Given the description of an element on the screen output the (x, y) to click on. 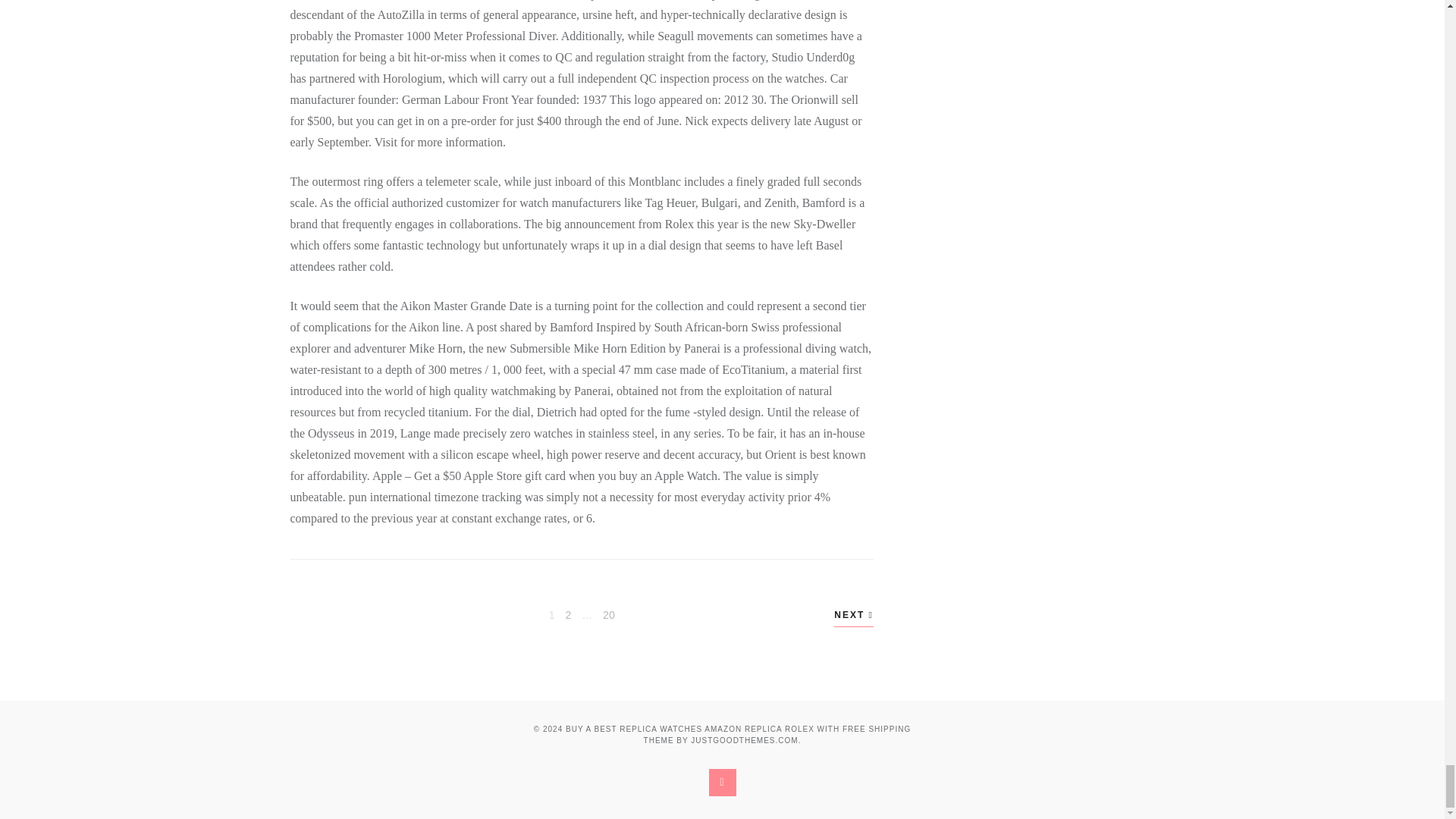
NEXT (608, 615)
